Given the description of an element on the screen output the (x, y) to click on. 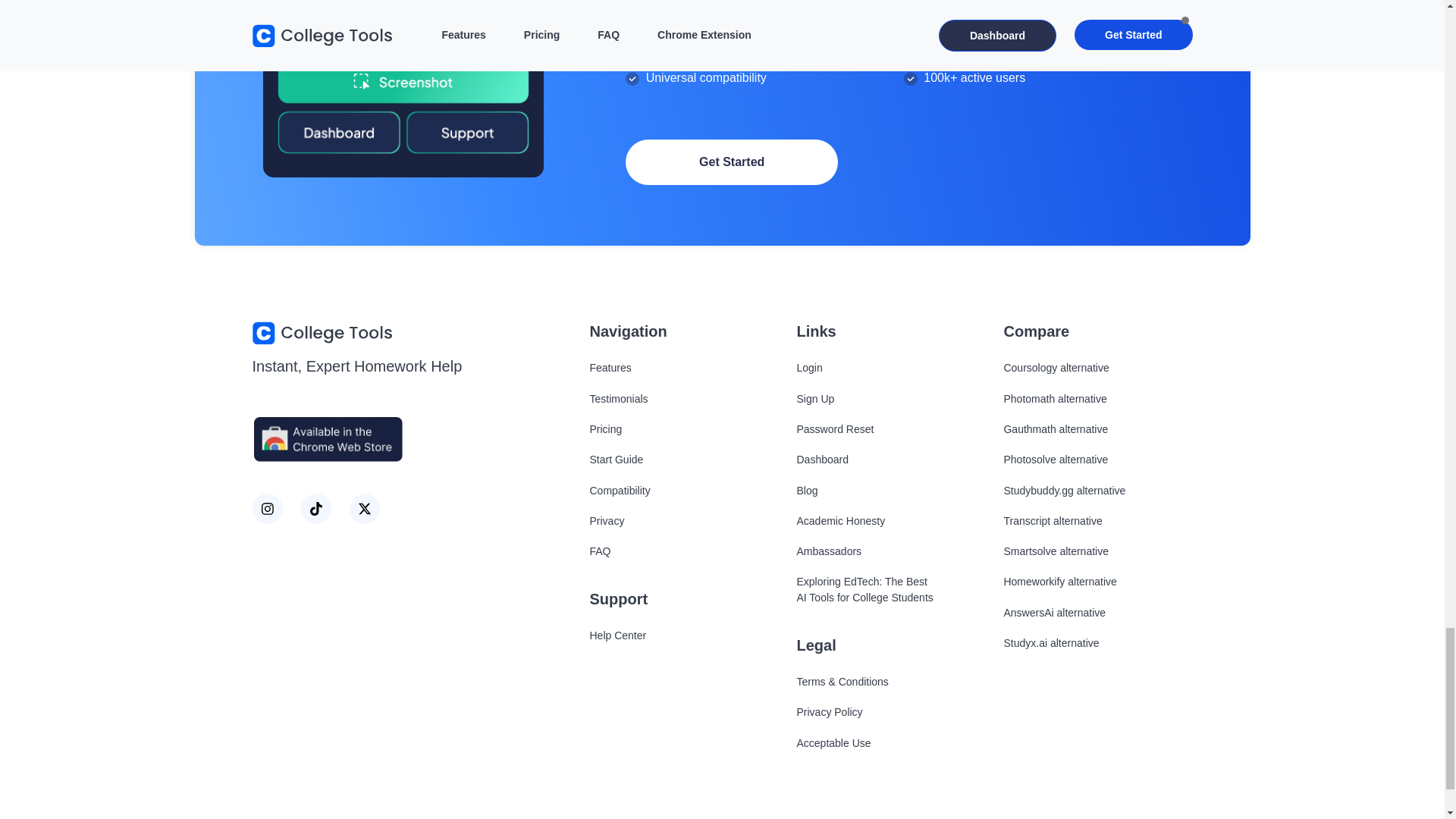
Testimonials (618, 398)
Get Started (732, 162)
Features (610, 367)
